Given the description of an element on the screen output the (x, y) to click on. 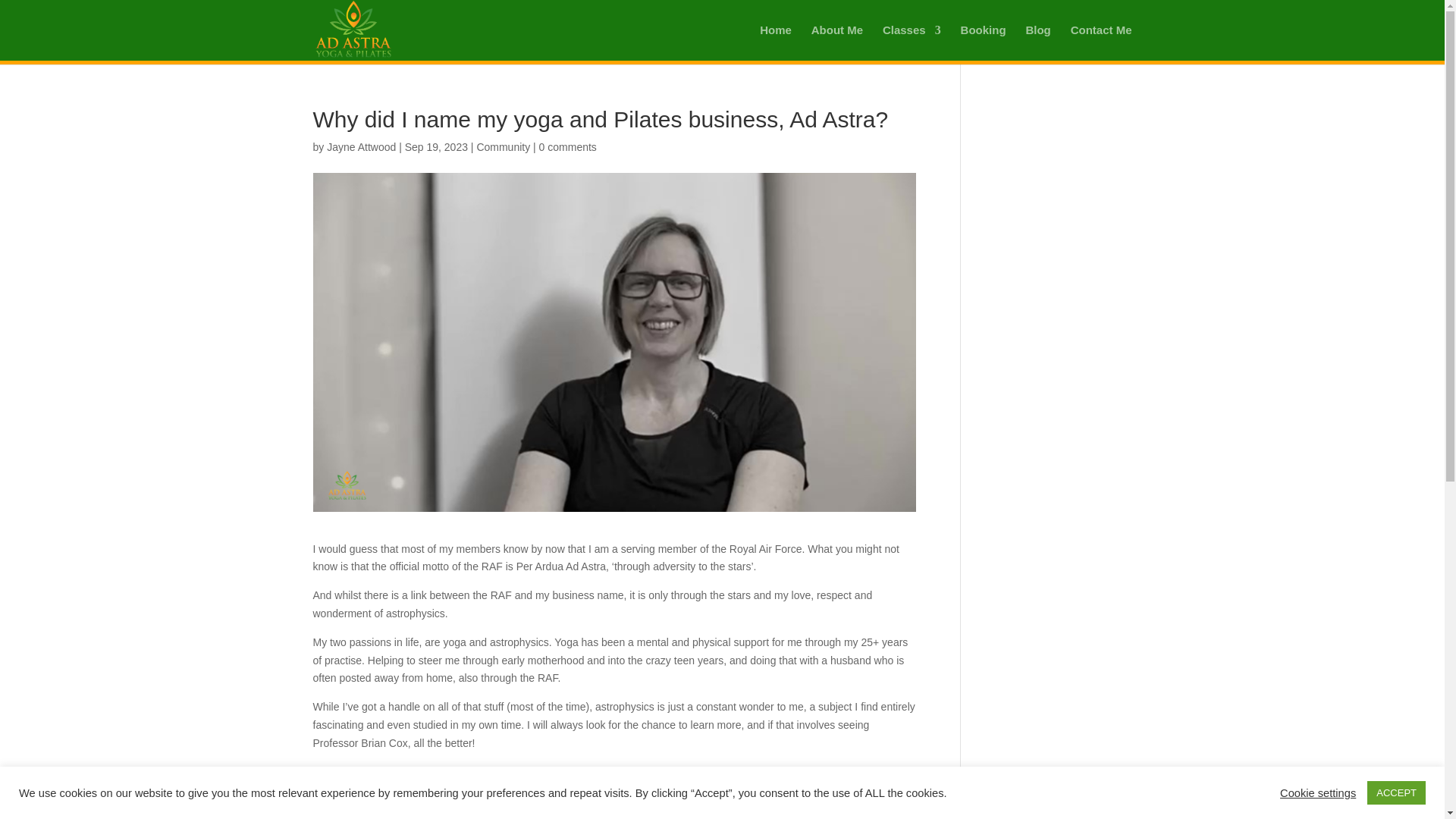
Jayne Attwood (361, 146)
0 comments (567, 146)
About Me (836, 42)
ACCEPT (1396, 792)
Contact Me (1101, 42)
Booking (983, 42)
Posts by Jayne Attwood (361, 146)
Cookie settings (1317, 792)
Classes (911, 42)
Home (776, 42)
Community (502, 146)
